Given the description of an element on the screen output the (x, y) to click on. 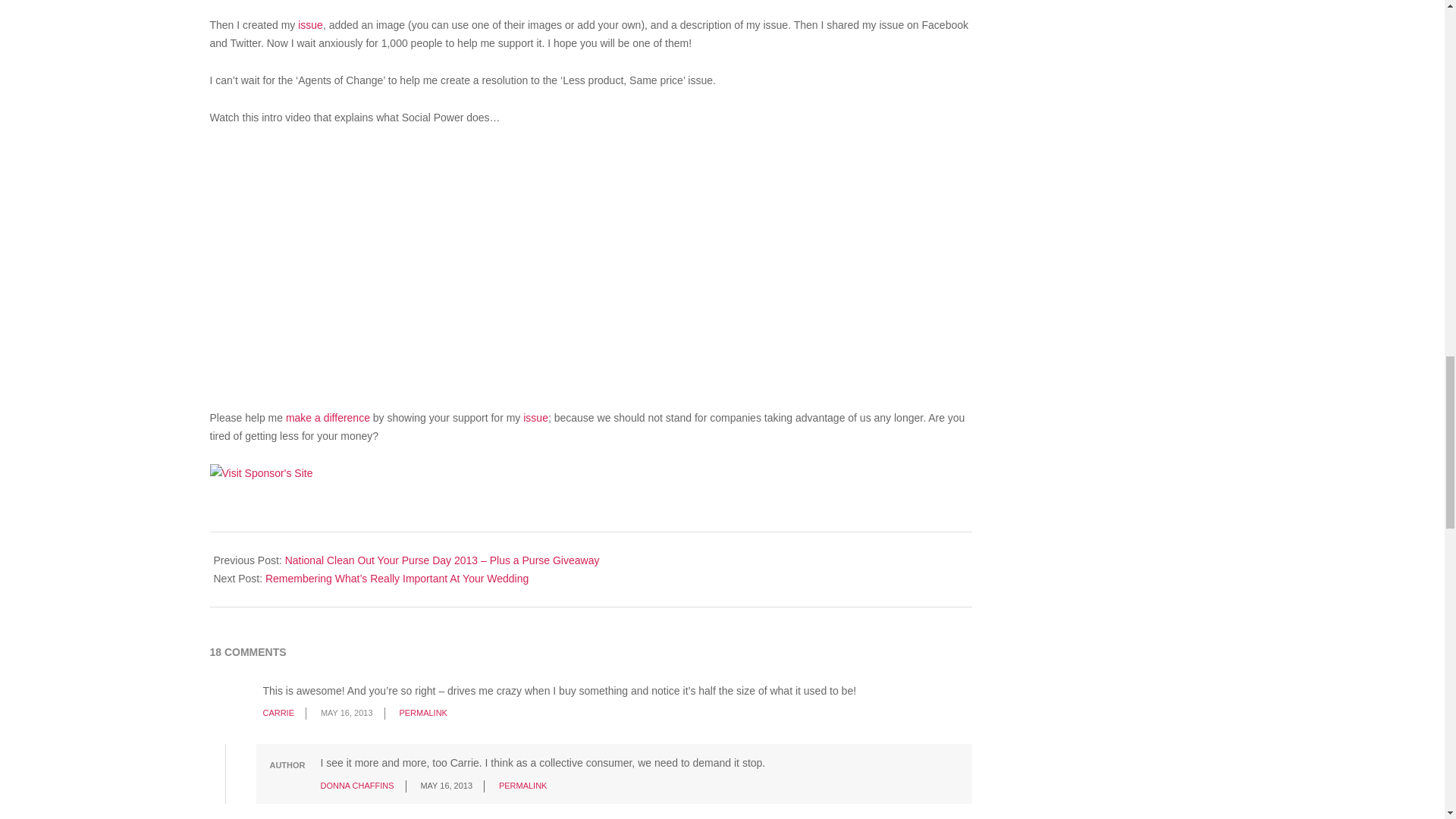
Thursday, May 16, 2013, 11:25 am (346, 712)
